Given the description of an element on the screen output the (x, y) to click on. 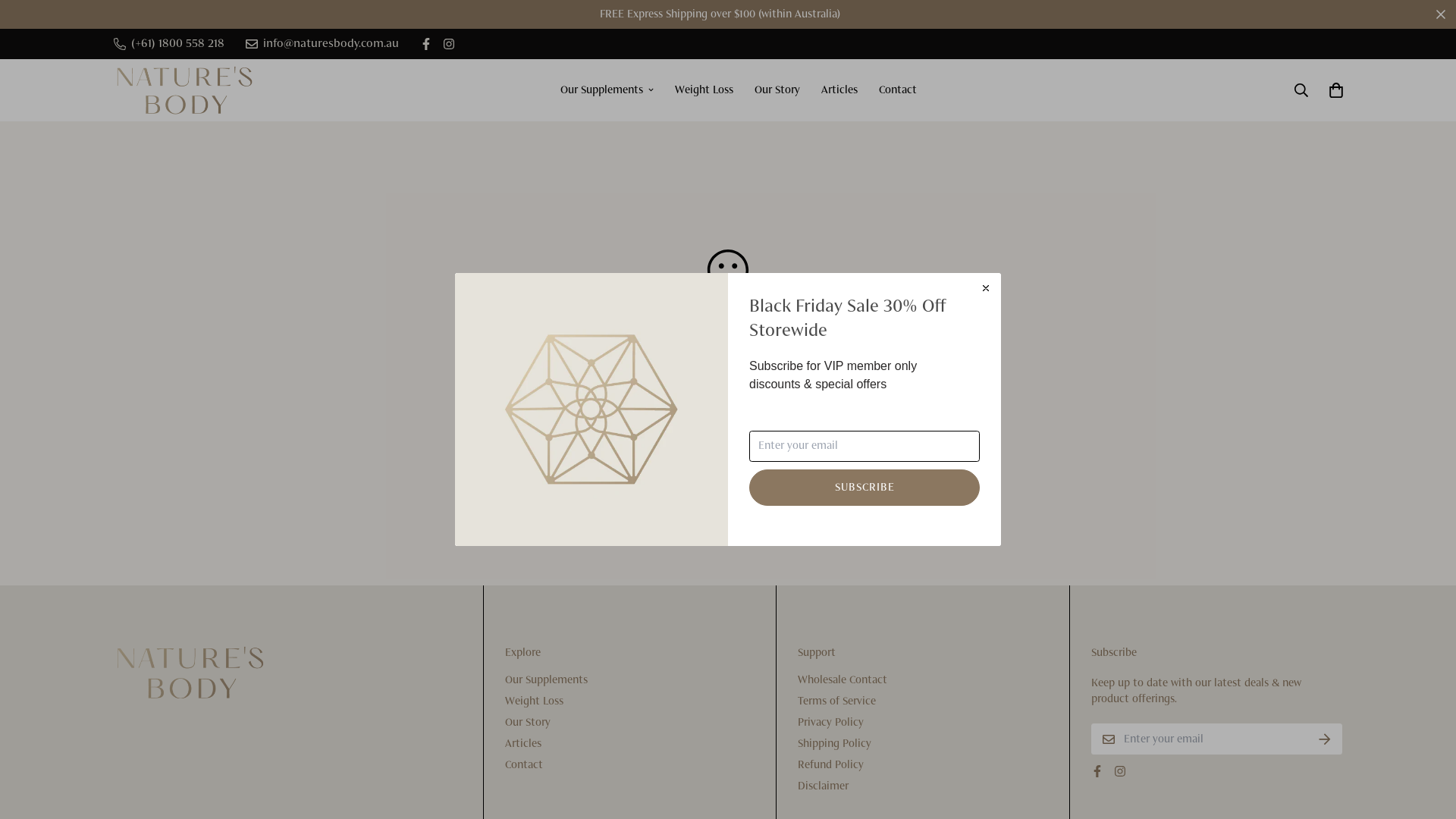
Weight Loss Element type: text (534, 701)
Weight Loss Element type: text (703, 89)
Our Story Element type: text (527, 722)
Disclaimer Element type: text (822, 786)
Articles Element type: text (839, 89)
SUBSCRIBE Element type: text (864, 487)
Wholesale Contact Element type: text (842, 680)
Contact Element type: text (897, 89)
Our Story Element type: text (776, 89)
Shipping Policy Element type: text (834, 743)
Our Supplements Element type: text (546, 680)
Our Supplements Element type: text (606, 89)
Terms of Service Element type: text (836, 701)
(+61) 1800 558 218 Element type: text (169, 43)
Refund Policy Element type: text (830, 765)
Privacy Policy Element type: text (830, 722)
info@naturesbody.com.au Element type: text (322, 43)
Nature's Body Element type: hover (183, 90)
GO TO HOME Element type: text (727, 440)
Articles Element type: text (523, 743)
Contact Element type: text (523, 765)
